Given the description of an element on the screen output the (x, y) to click on. 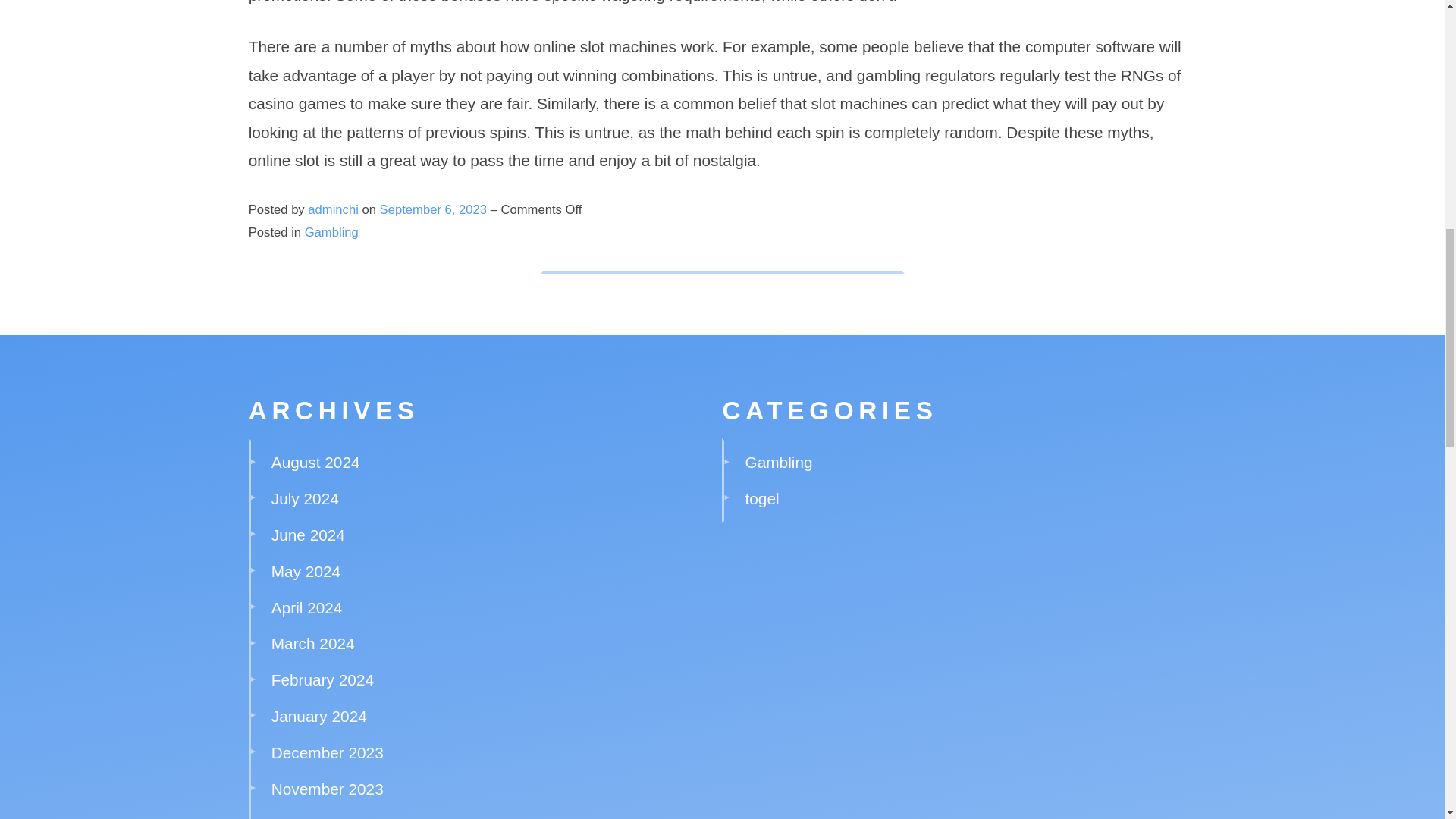
adminchi (332, 209)
February 2024 (322, 679)
October 2023 (318, 817)
Gambling (778, 461)
July 2024 (304, 497)
November 2023 (327, 788)
June 2024 (307, 534)
August 2024 (314, 461)
September 6, 2023 (435, 209)
Gambling (331, 232)
